Given the description of an element on the screen output the (x, y) to click on. 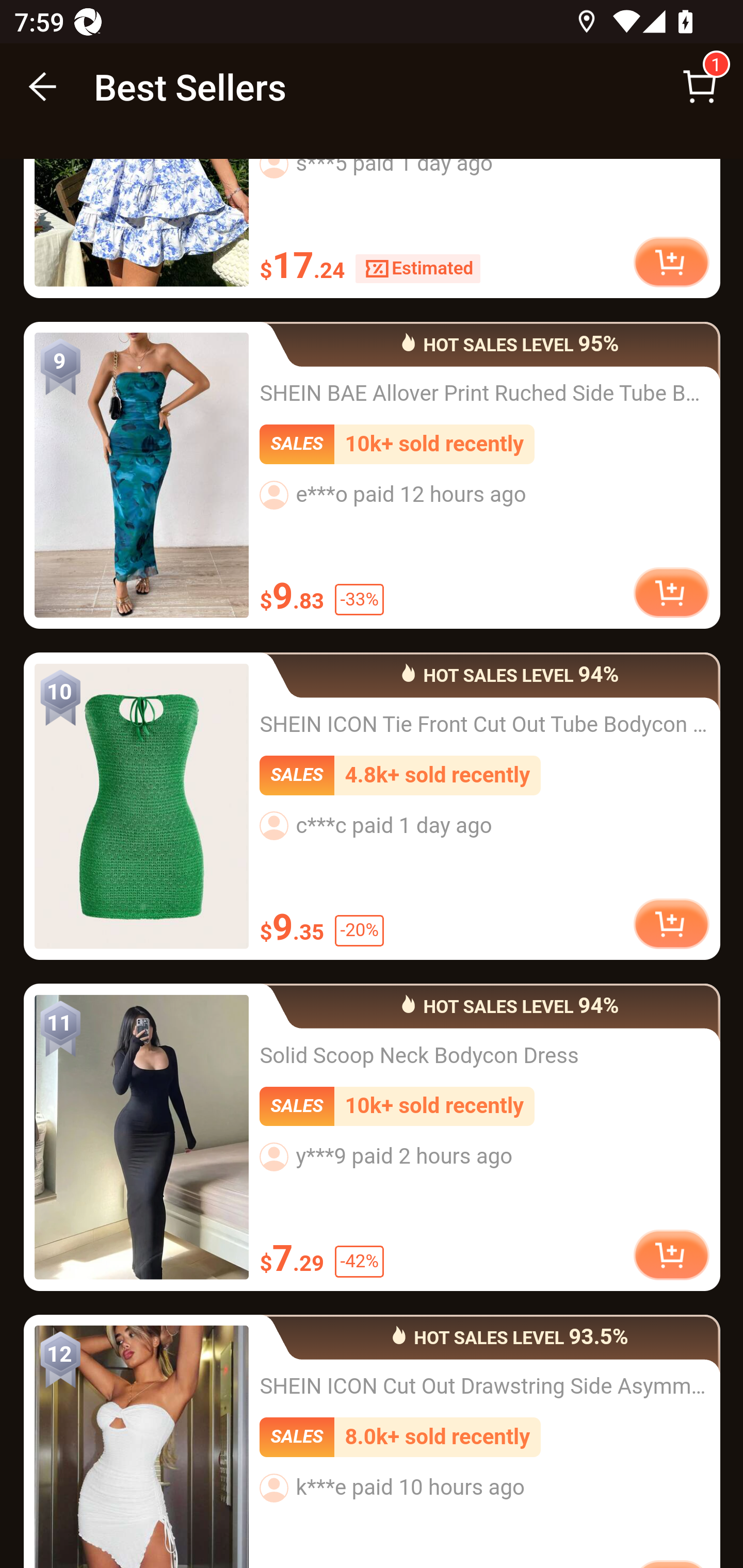
BACK (43, 86)
Cart 1 (699, 86)
add to cart (670, 262)
add to cart (670, 593)
add to cart (670, 924)
Solid Scoop Neck Bodycon Dress (141, 1137)
add to cart (670, 1255)
